Given the description of an element on the screen output the (x, y) to click on. 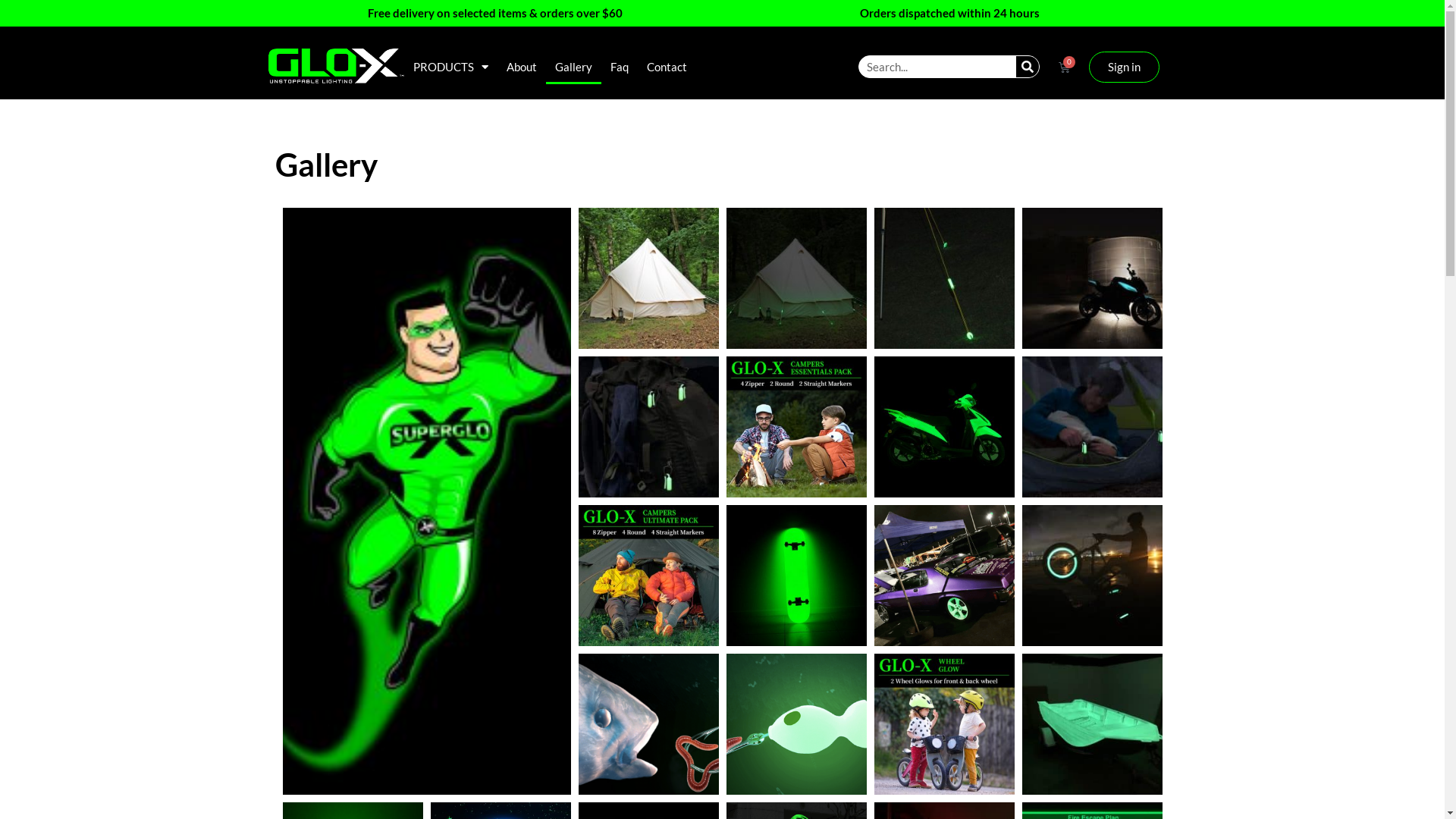
Faq Element type: text (618, 66)
About Element type: text (521, 66)
tent Night Element type: hover (795, 277)
Contact Element type: text (666, 66)
Website-Images-Campers-Essentials_Pack-v01-1 Element type: hover (795, 426)
Screen Shot 2022-12-08 at 3.03.48 pm Element type: hover (796, 723)
0
Cart Element type: text (1063, 66)
Gallery Element type: text (573, 66)
PRODUCTS Element type: text (449, 66)
Website-Image-03 Element type: hover (943, 723)
Website-Images-Campers-Essentials_Pack-v02 Element type: hover (647, 575)
tent day Element type: hover (648, 277)
Screen Shot 2022-12-08 at 3.03.39 pm Element type: hover (648, 723)
Sign in Element type: text (1123, 66)
Search Element type: text (1027, 66)
